Given the description of an element on the screen output the (x, y) to click on. 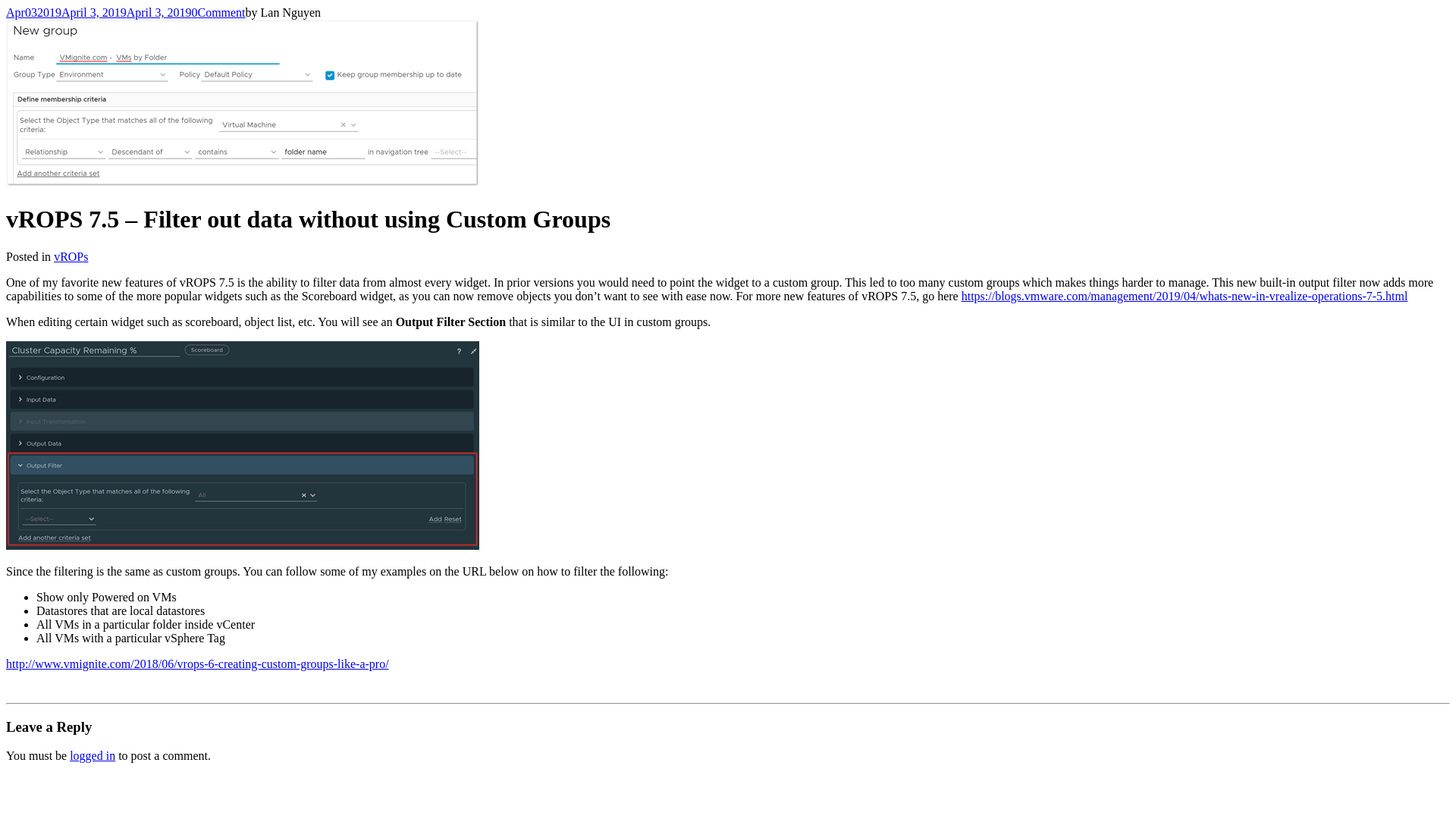
vROPs (70, 256)
Apr032019April 3, 2019April 3, 2019 (97, 11)
Comment (220, 11)
0 (193, 11)
